Given the description of an element on the screen output the (x, y) to click on. 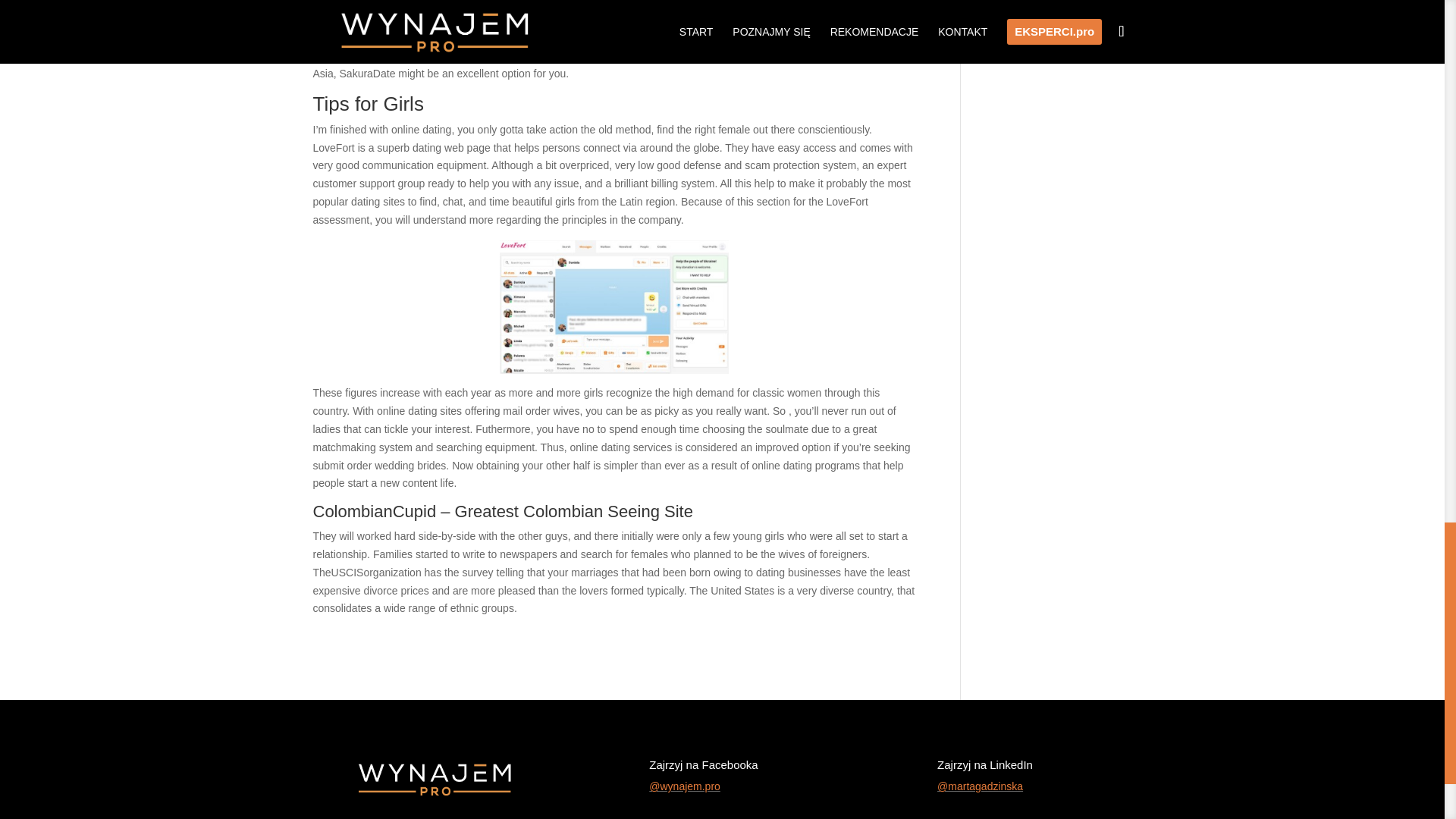
Zajrzyj na LinkedIn (984, 764)
wynajem-pro (433, 773)
